Given the description of an element on the screen output the (x, y) to click on. 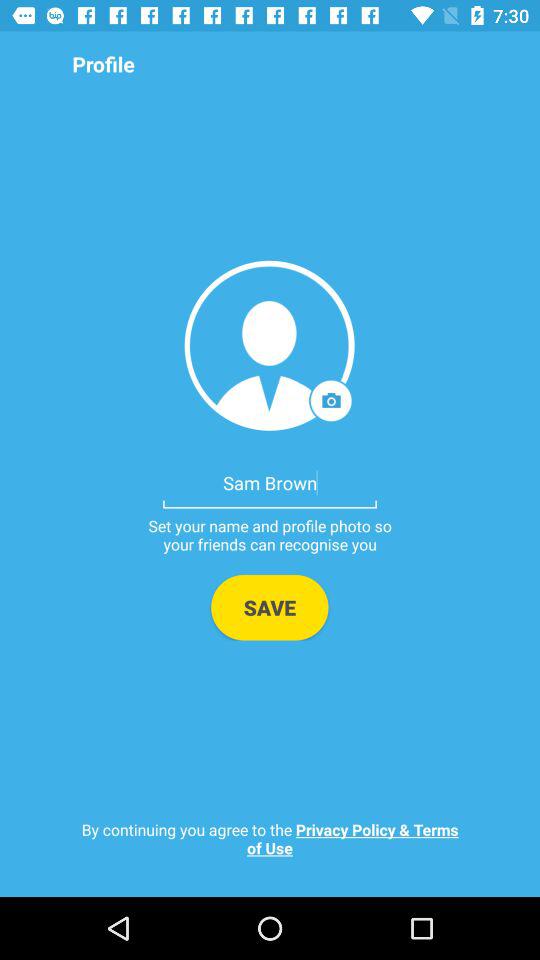
profile photo (269, 345)
